Given the description of an element on the screen output the (x, y) to click on. 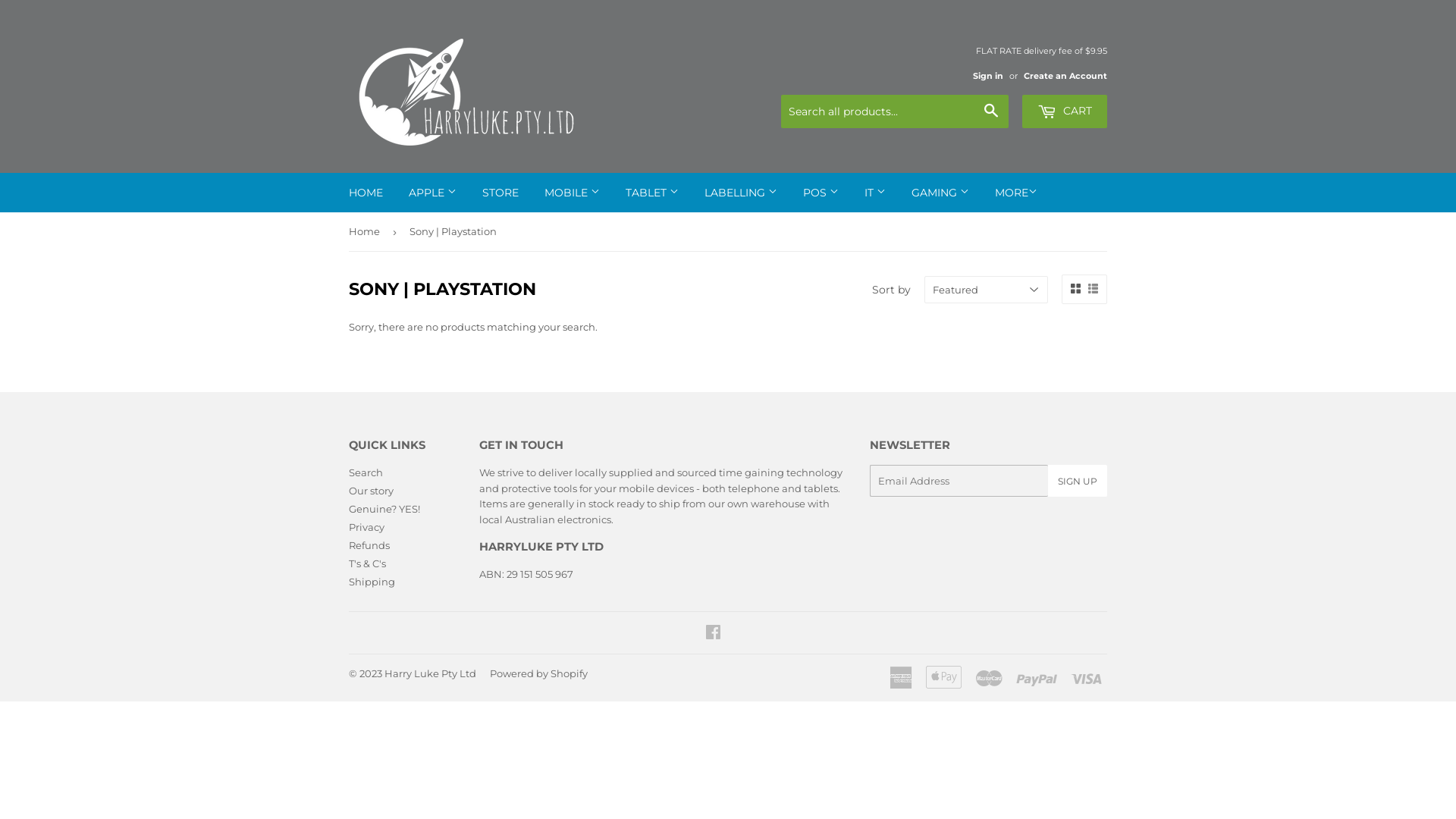
STORE Element type: text (500, 192)
Privacy Element type: text (366, 526)
Home Element type: text (366, 231)
APPLE Element type: text (432, 192)
Facebook Element type: text (713, 633)
Powered by Shopify Element type: text (538, 673)
HOME Element type: text (365, 192)
Sign in Element type: text (987, 75)
POS Element type: text (820, 192)
Refunds Element type: text (368, 545)
CART Element type: text (1064, 111)
List view Element type: hover (1093, 288)
TABLET Element type: text (652, 192)
GAMING Element type: text (940, 192)
MORE Element type: text (1015, 192)
Search Element type: text (365, 472)
Harry Luke Pty Ltd Element type: text (430, 673)
Create an Account Element type: text (1065, 75)
Genuine? YES! Element type: text (384, 508)
Shipping Element type: text (371, 581)
Grid view Element type: hover (1075, 288)
Search Element type: text (991, 112)
T's & C's Element type: text (366, 563)
MOBILE Element type: text (572, 192)
IT Element type: text (875, 192)
SIGN UP Element type: text (1077, 480)
Our story Element type: text (370, 490)
LABELLING Element type: text (740, 192)
